Given the description of an element on the screen output the (x, y) to click on. 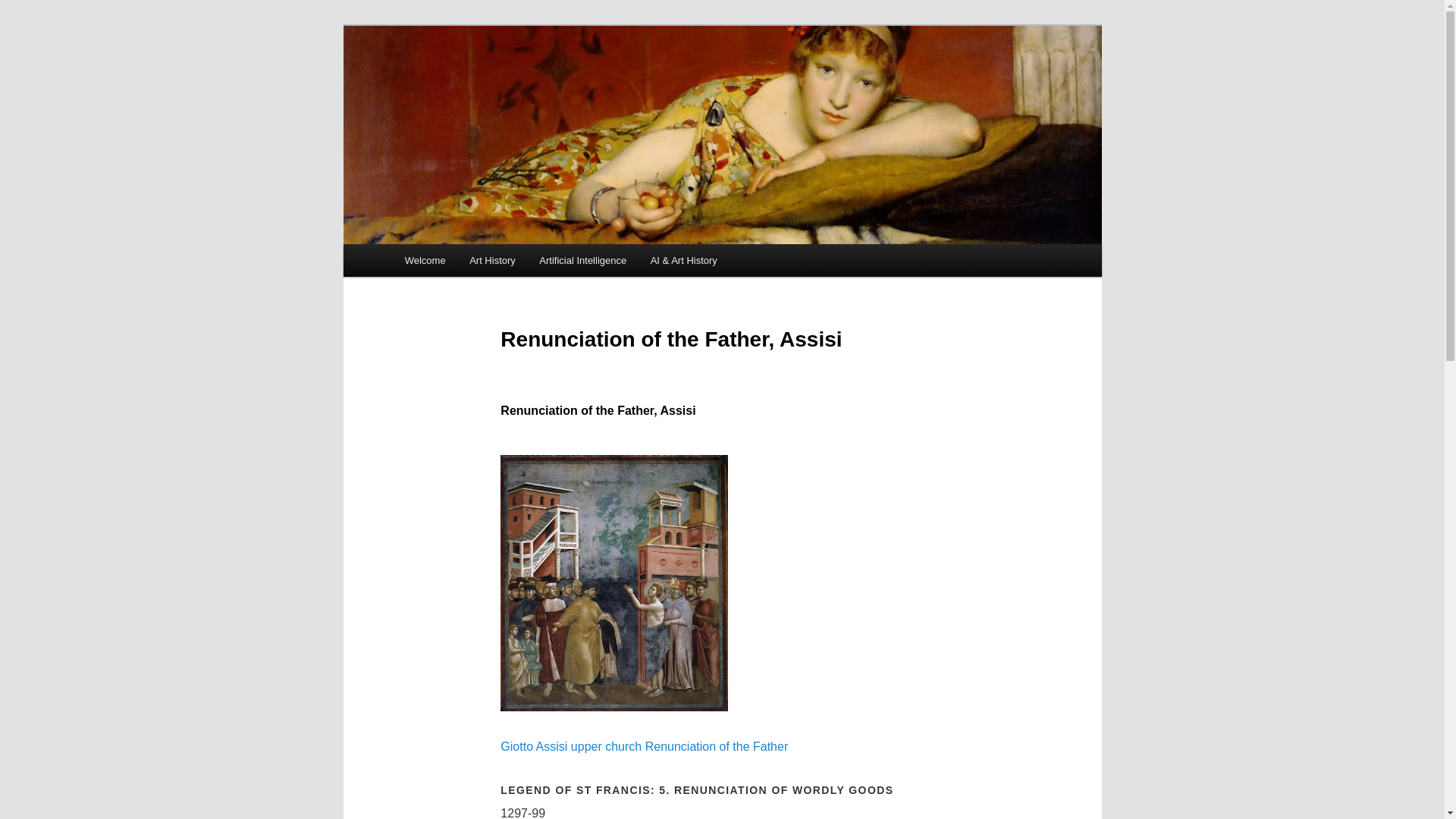
Welcome (425, 260)
Giotto Assisi upper church Renunciation of the Father (721, 746)
Artificial Intelligence (583, 260)
Art History (492, 260)
AI and Art History (496, 83)
